Given the description of an element on the screen output the (x, y) to click on. 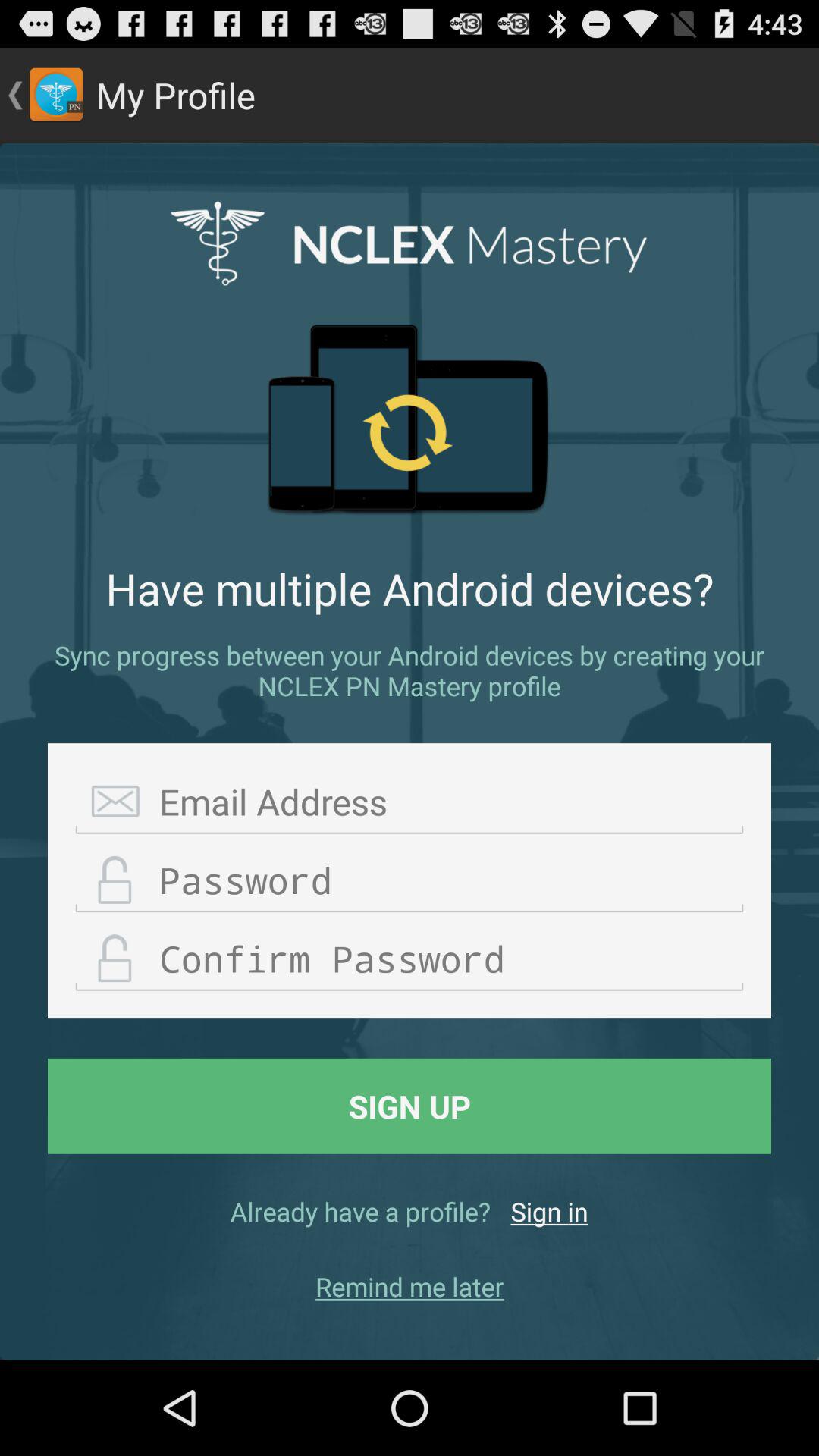
type password (409, 880)
